Given the description of an element on the screen output the (x, y) to click on. 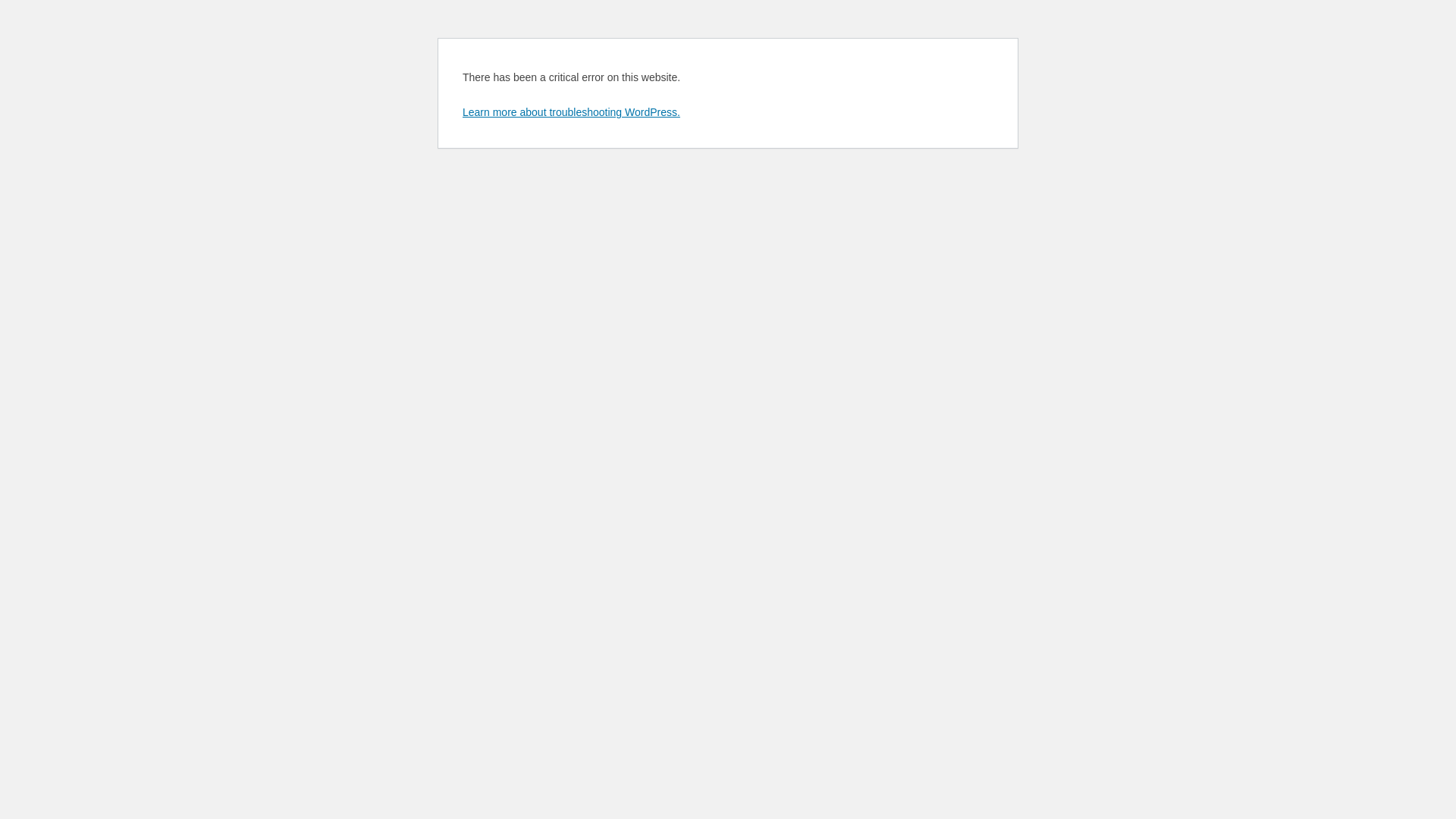
Learn more about troubleshooting WordPress. Element type: text (571, 112)
